Given the description of an element on the screen output the (x, y) to click on. 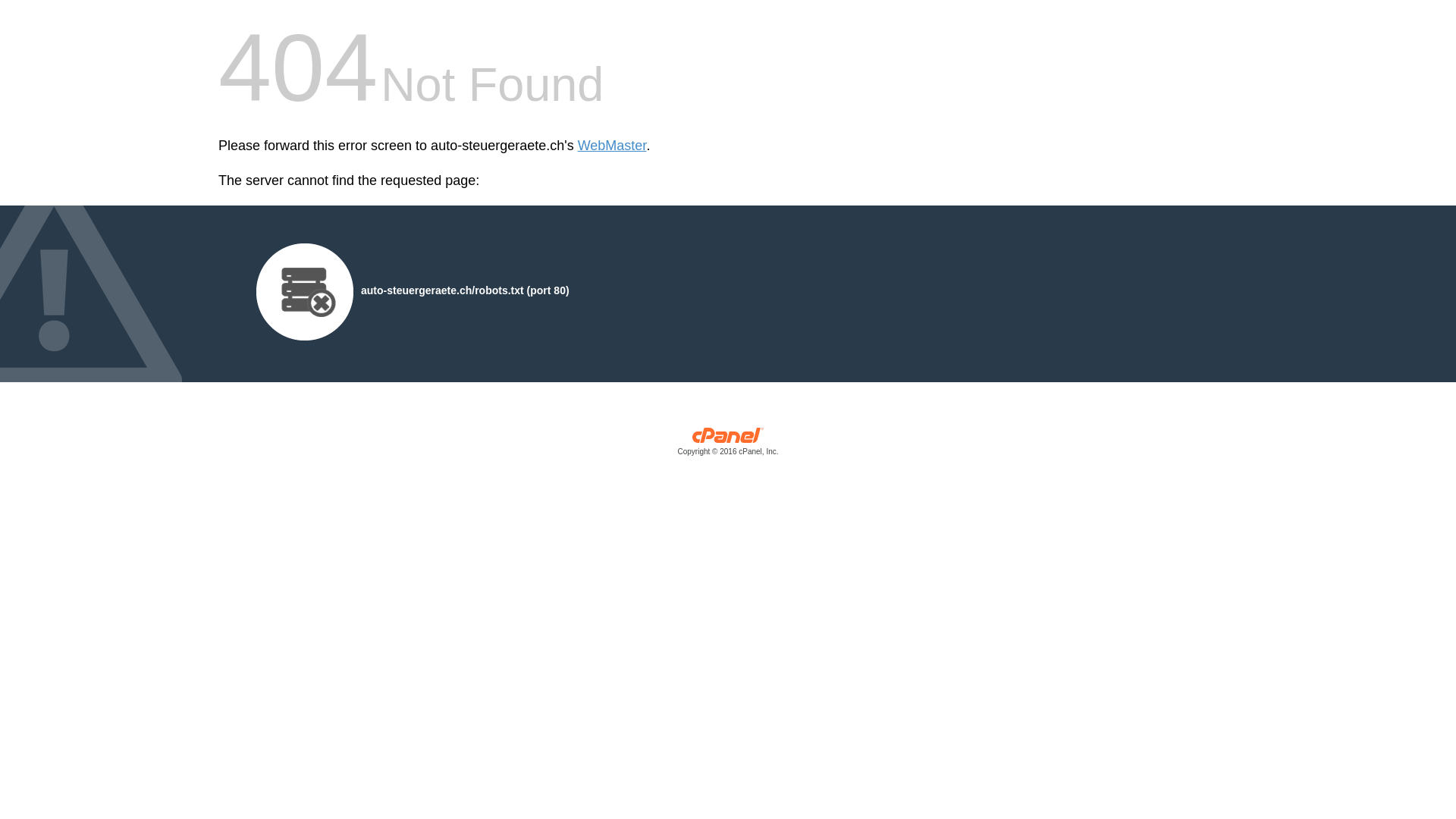
WebMaster Element type: text (611, 145)
